Given the description of an element on the screen output the (x, y) to click on. 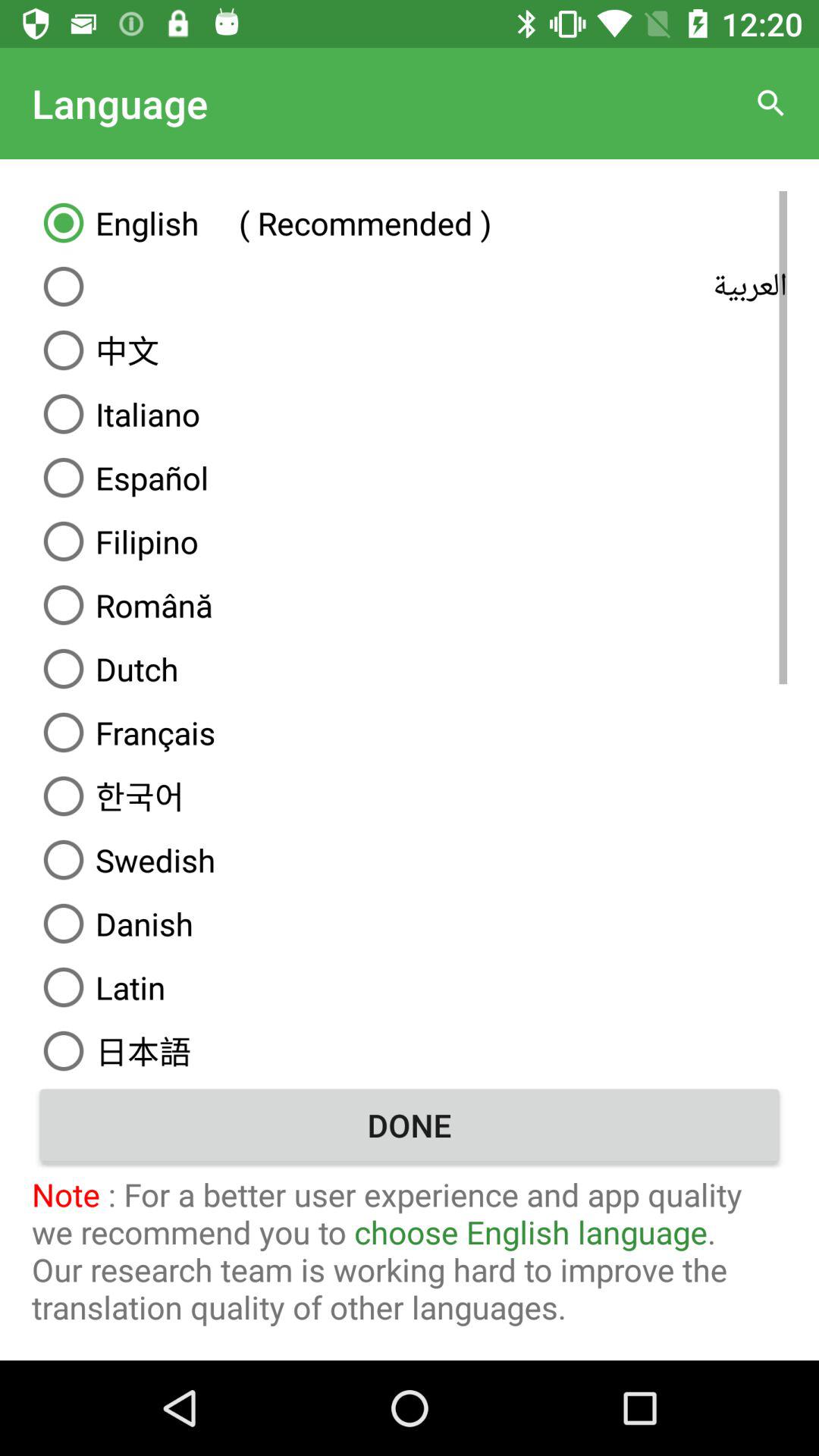
press the dutch icon (409, 668)
